Given the description of an element on the screen output the (x, y) to click on. 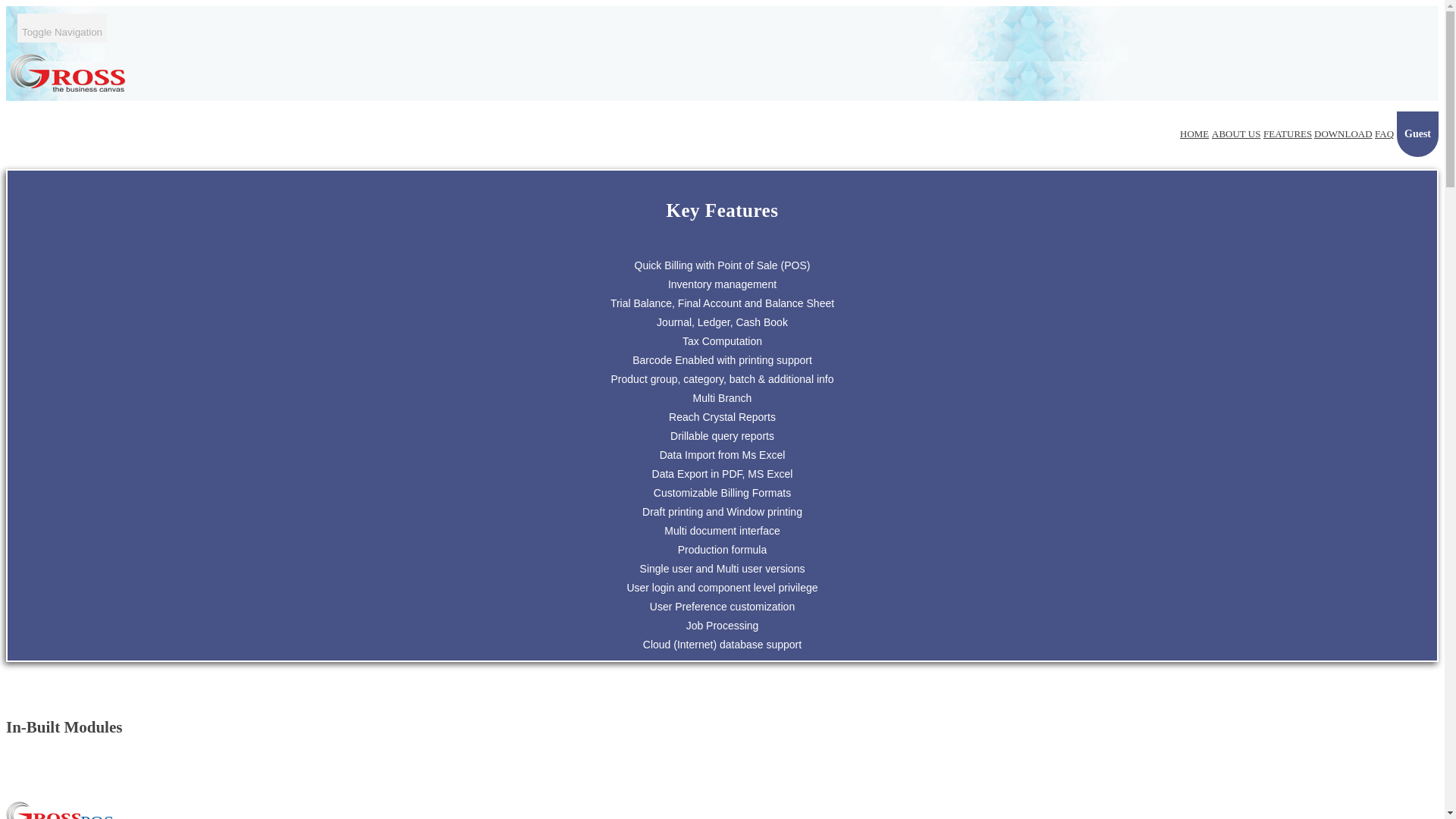
ABOUT US (1235, 133)
DOWNLOAD (1343, 133)
FEATURES (1287, 133)
FAQ (1383, 133)
HOME (1193, 133)
Toggle Navigation (61, 27)
